Given the description of an element on the screen output the (x, y) to click on. 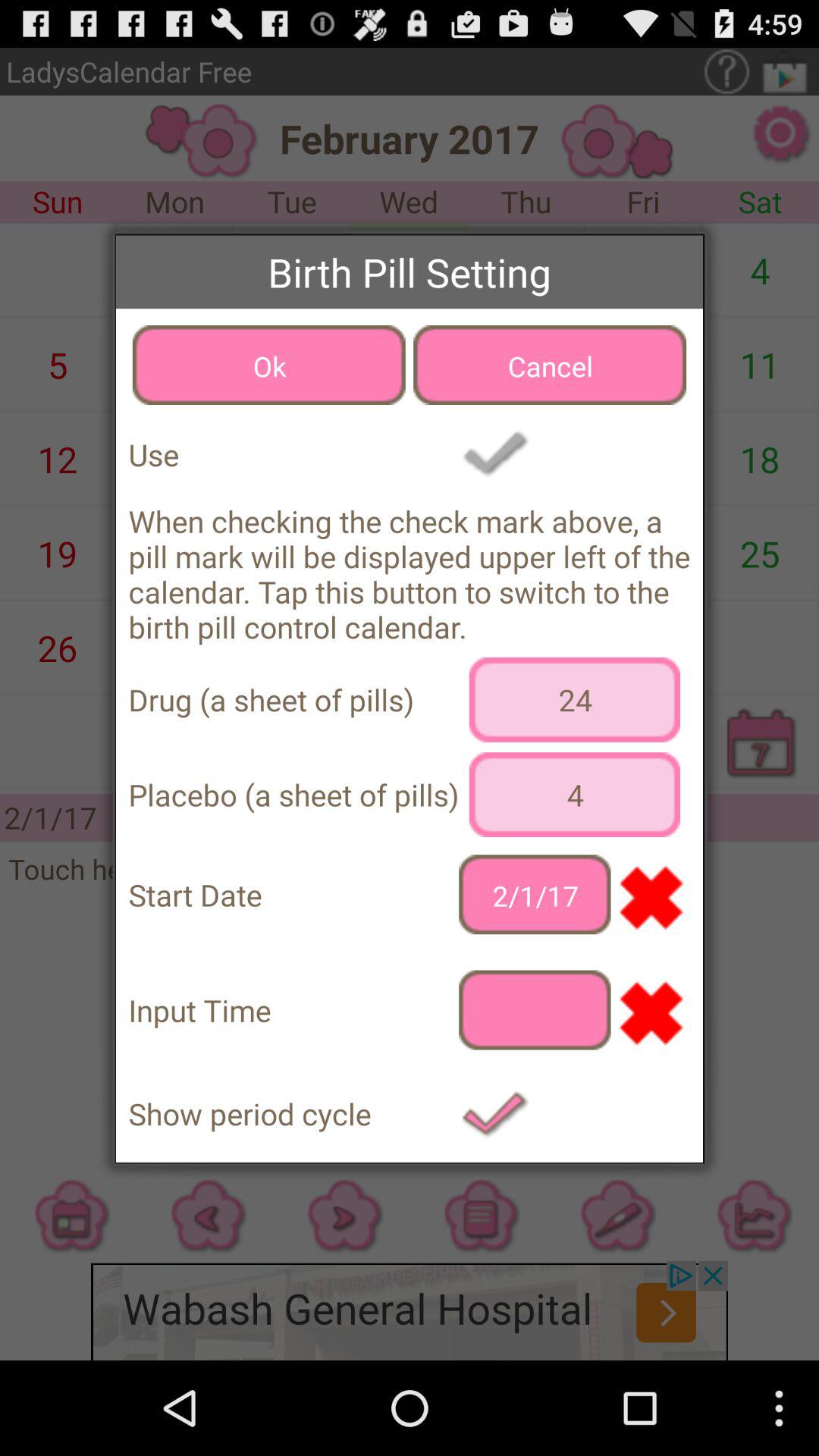
select ok (268, 364)
